Given the description of an element on the screen output the (x, y) to click on. 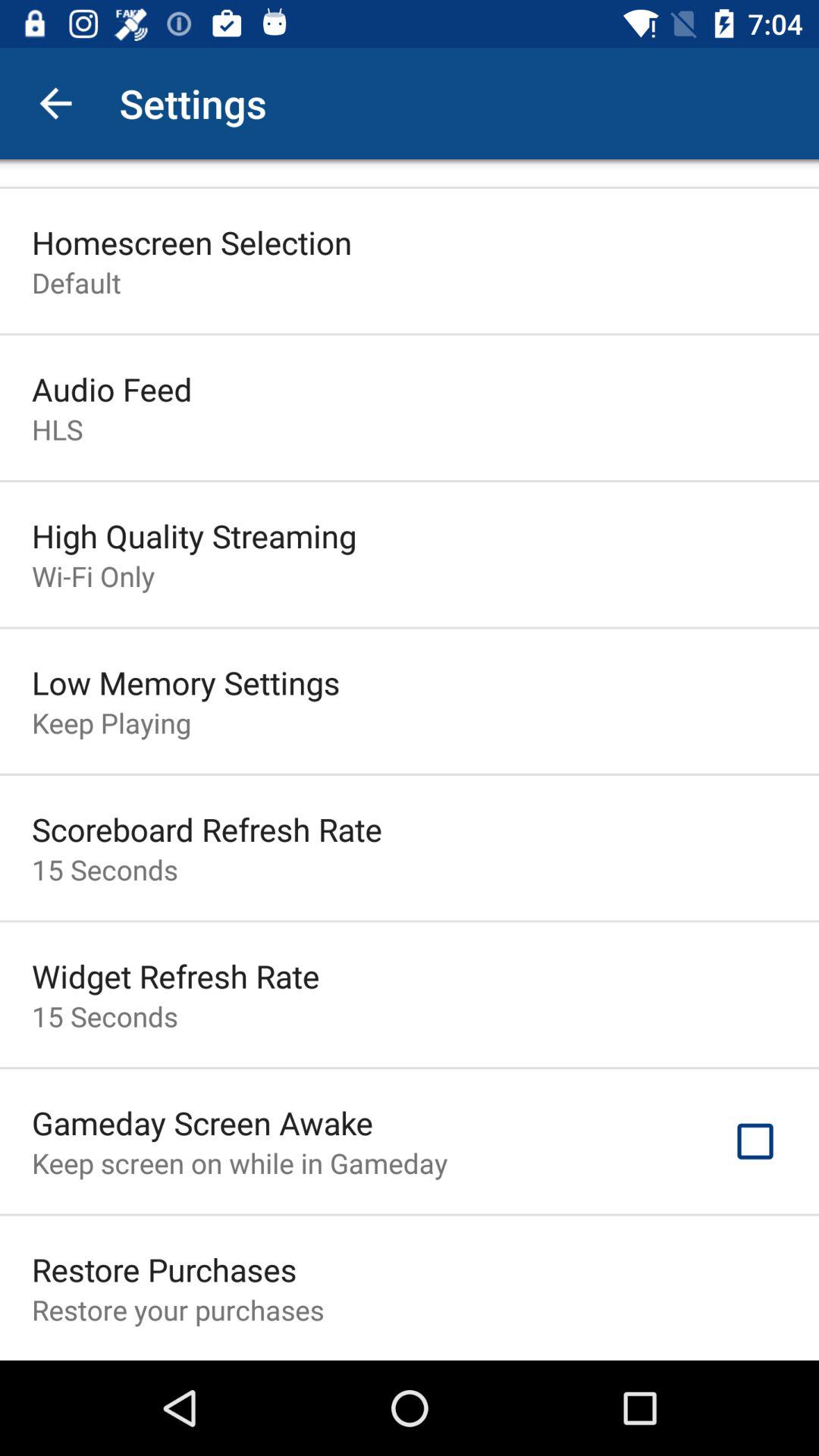
tap homescreen selection icon (191, 241)
